Given the description of an element on the screen output the (x, y) to click on. 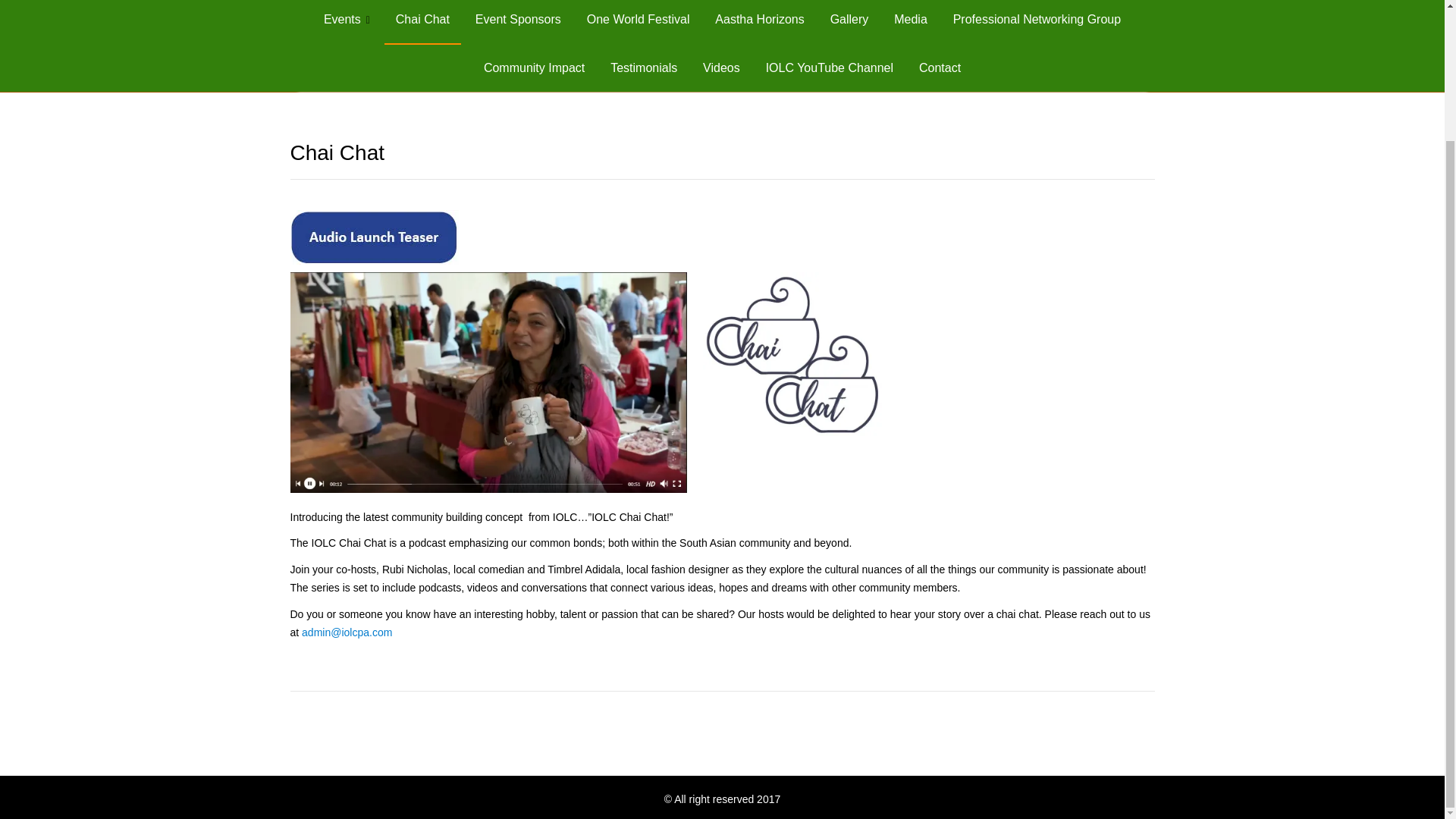
Chai Chat (422, 21)
Community Impact (533, 68)
IOLC YouTube Channel (829, 68)
Professional Networking Group (1037, 21)
Media (910, 21)
Events (347, 21)
Aastha Horizons (759, 21)
Event Sponsors (518, 21)
Testimonials (643, 68)
Contact (939, 68)
Gallery (849, 21)
One World Festival (638, 21)
Videos (721, 68)
